Given the description of an element on the screen output the (x, y) to click on. 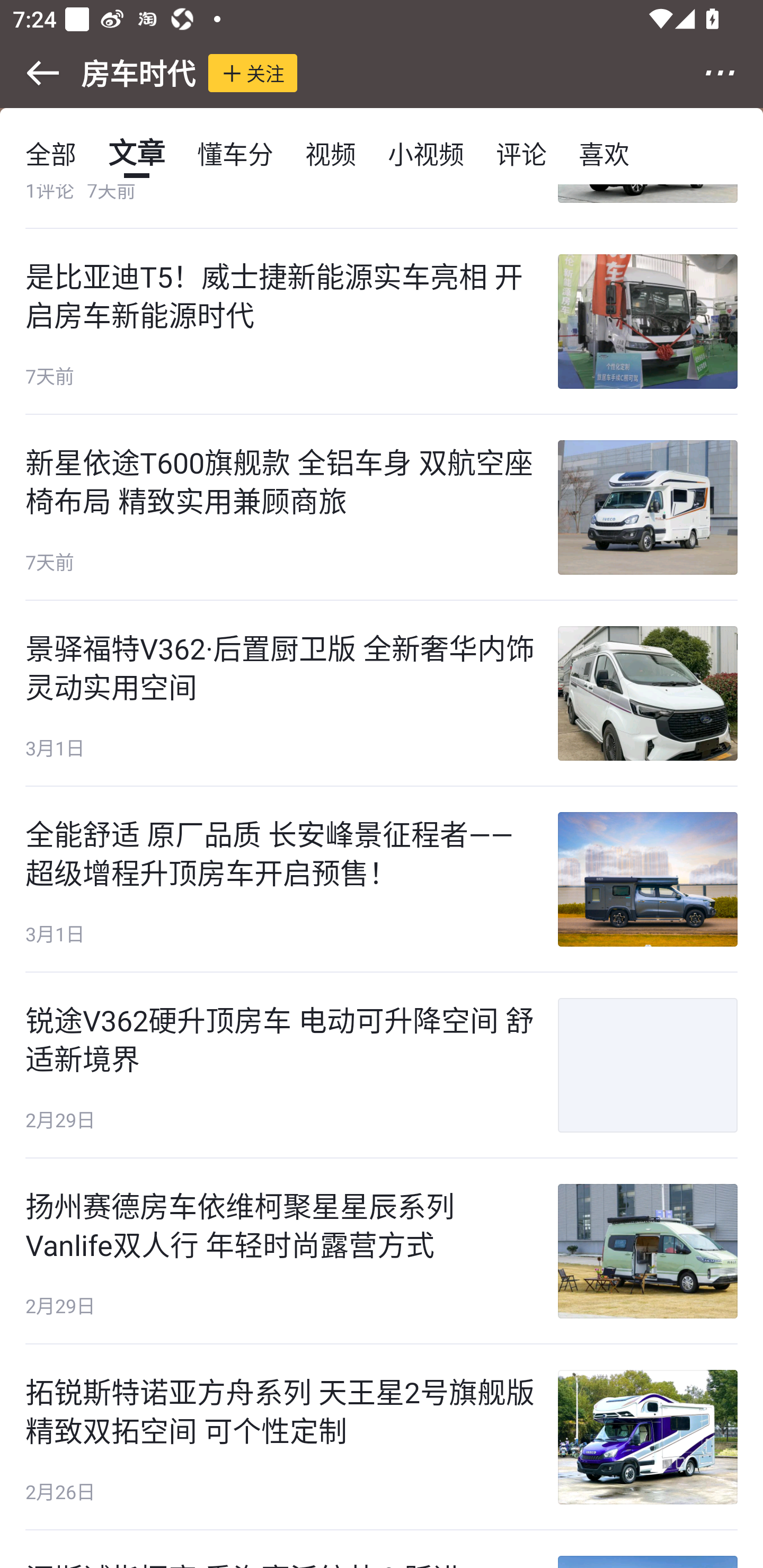
 (30, 72)
 (732, 72)
 关注 (252, 72)
全部 (50, 152)
文章 (136, 152)
懂车分 (234, 152)
视频 (330, 152)
小视频 (425, 152)
评论 (521, 152)
喜欢 (603, 152)
是比亚迪T5！威士捷新能源实车亮相 开启房车新能源时代 7天前 (381, 321)
新星依途T600旗舰款 全铝车身 双航空座椅布局 精致实用兼顾商旅 7天前 (381, 507)
景驿福特V362·后置厨卫版 全新奢华内饰 灵动实用空间 3月1日 (381, 693)
全能舒适 原厂品质 长安峰景征程者——超级增程升顶房车开启预售！ 3月1日 (381, 879)
锐途V362硬升顶房车 电动可升降空间 舒适新境界 2月29日 (381, 1065)
扬州赛德房车依维柯聚星星辰系列 Vanlife双人行 年轻时尚露营方式 2月29日 (381, 1250)
拓锐斯特诺亚方舟系列 天王星2号旗舰版 精致双拓空间 可个性定制 2月26日 (381, 1436)
